Given the description of an element on the screen output the (x, y) to click on. 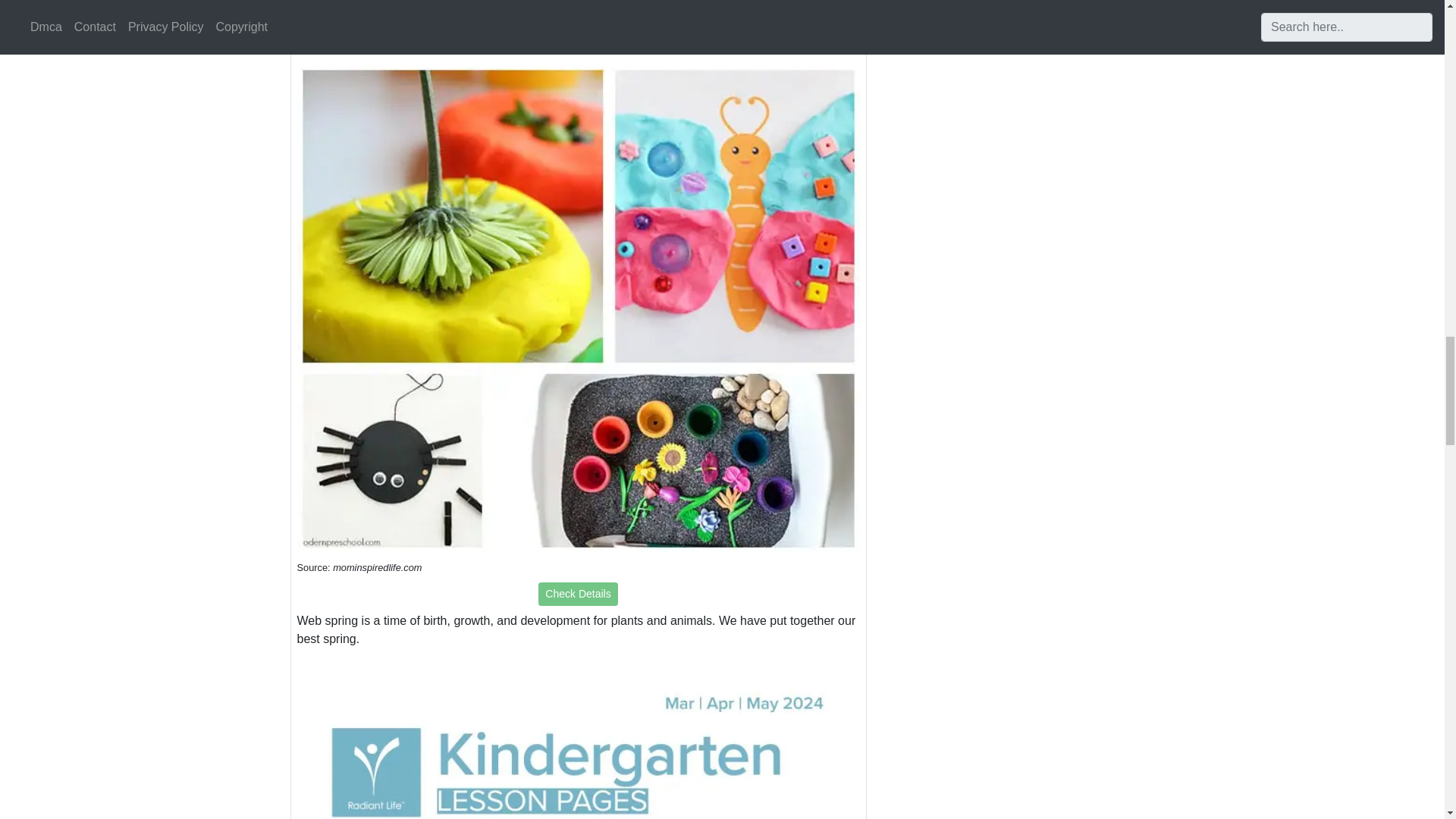
Check Details (577, 594)
